Given the description of an element on the screen output the (x, y) to click on. 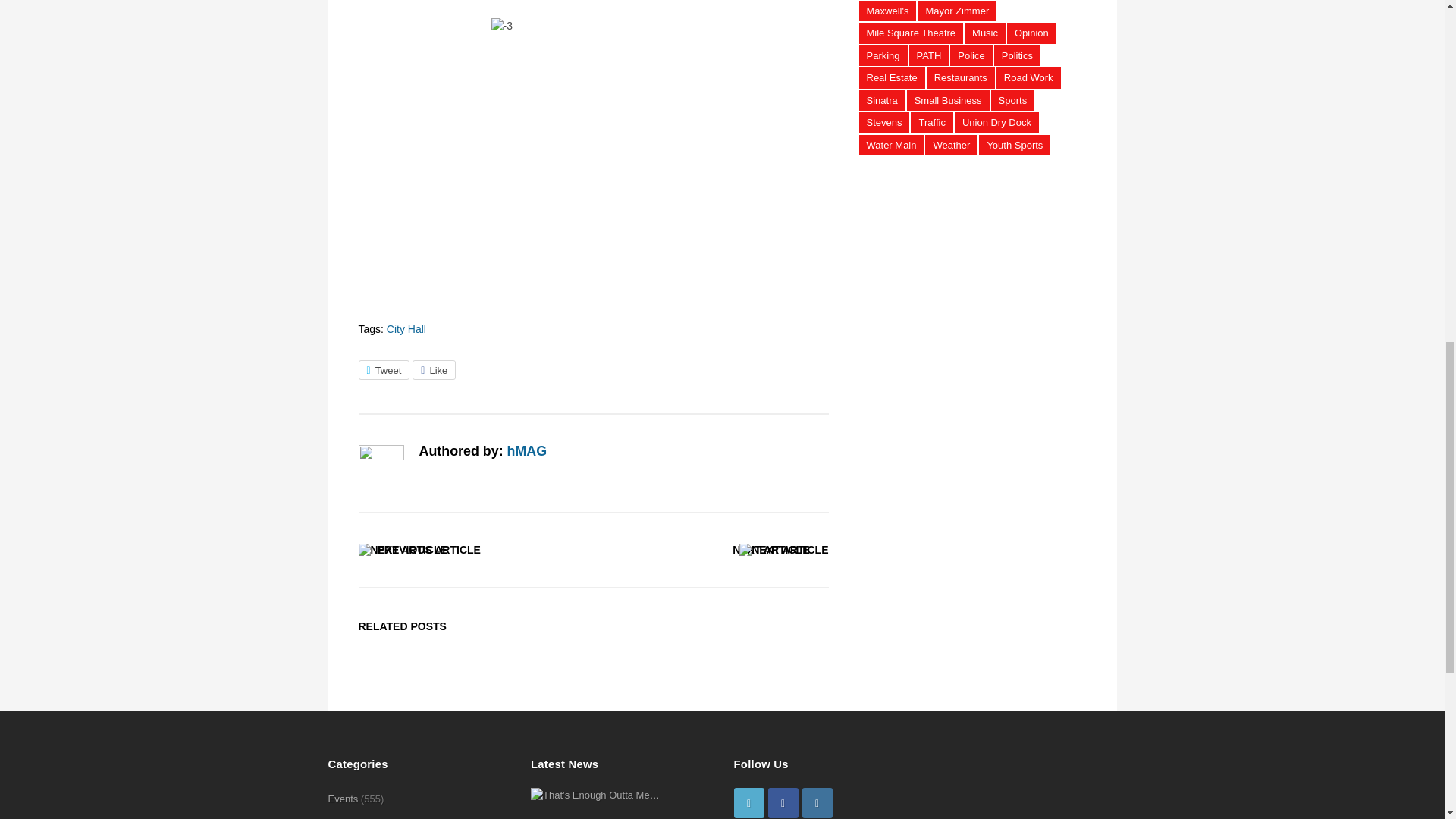
Like (433, 370)
Share on Facebook (433, 370)
Tweet (383, 370)
PREVIOUS ARTICLE (428, 549)
hMAG (526, 450)
Share on Twitter (383, 370)
NEXT ARTICLE (770, 549)
Visit Author Page (380, 467)
City Hall (406, 328)
Visit Author Page (526, 450)
